Given the description of an element on the screen output the (x, y) to click on. 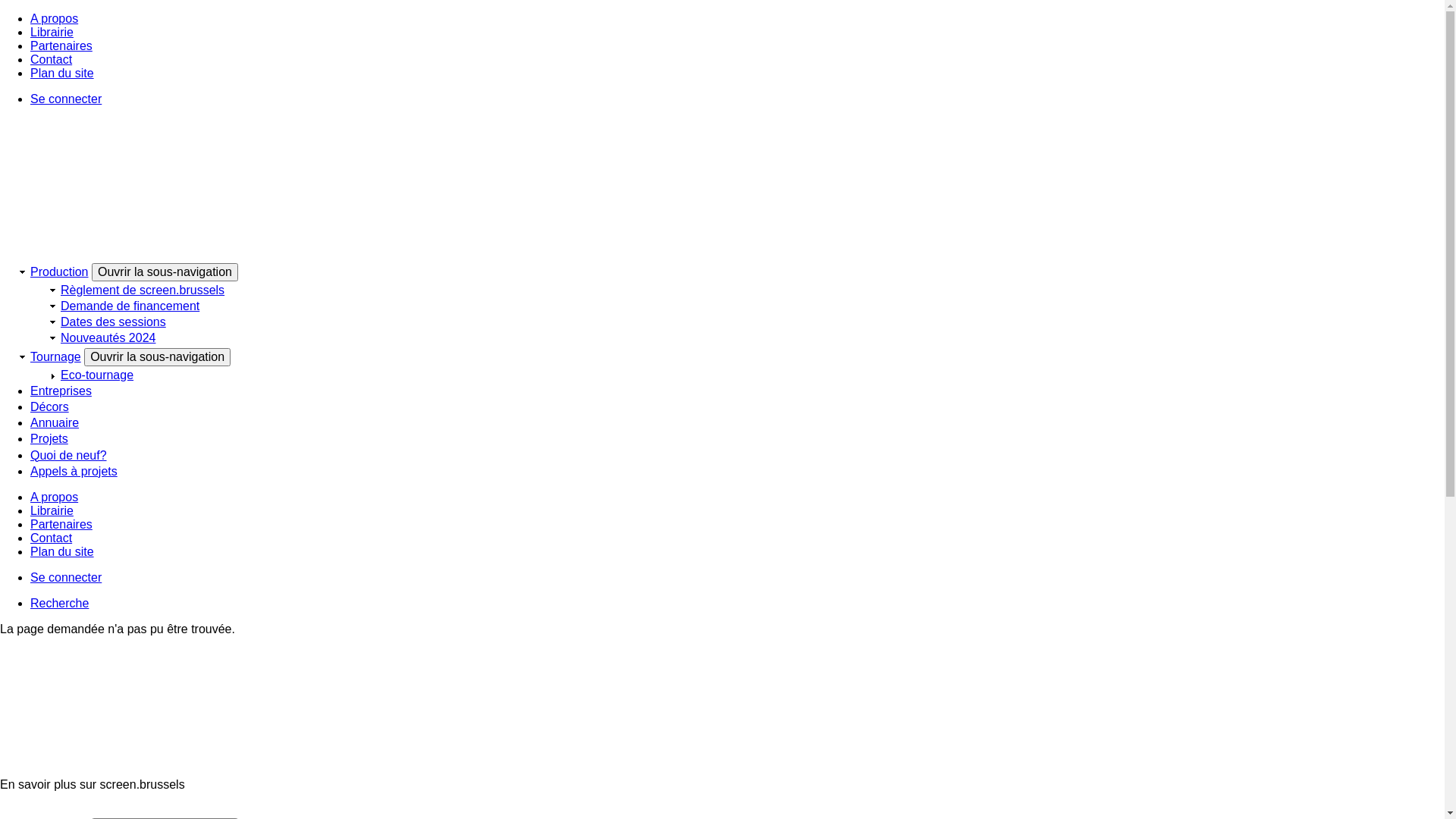
Eco-tournage Element type: text (96, 374)
Entreprises Element type: text (60, 390)
Tournage Element type: text (55, 356)
Ouvrir la sous-navigation Element type: text (157, 357)
Plan du site Element type: text (62, 551)
Librairie Element type: text (51, 31)
Contact Element type: text (51, 59)
Partenaires Element type: text (61, 45)
Librairie Element type: text (51, 510)
Annuaire Element type: text (54, 422)
Production Element type: text (59, 271)
Se connecter Element type: text (65, 577)
Aller au contenu principal Element type: text (0, 12)
Dates des sessions Element type: text (113, 321)
Accueil Element type: hover (722, 240)
Plan du site Element type: text (62, 72)
Se connecter Element type: text (65, 98)
Projets Element type: text (49, 438)
Demande de financement Element type: text (129, 305)
Ouvrir la sous-navigation Element type: text (164, 272)
A propos Element type: text (54, 496)
Quoi de neuf? Element type: text (68, 454)
Recherche Element type: text (59, 602)
Contact Element type: text (51, 537)
Accueil Element type: hover (722, 758)
A propos Element type: text (54, 18)
Partenaires Element type: text (61, 523)
